Given the description of an element on the screen output the (x, y) to click on. 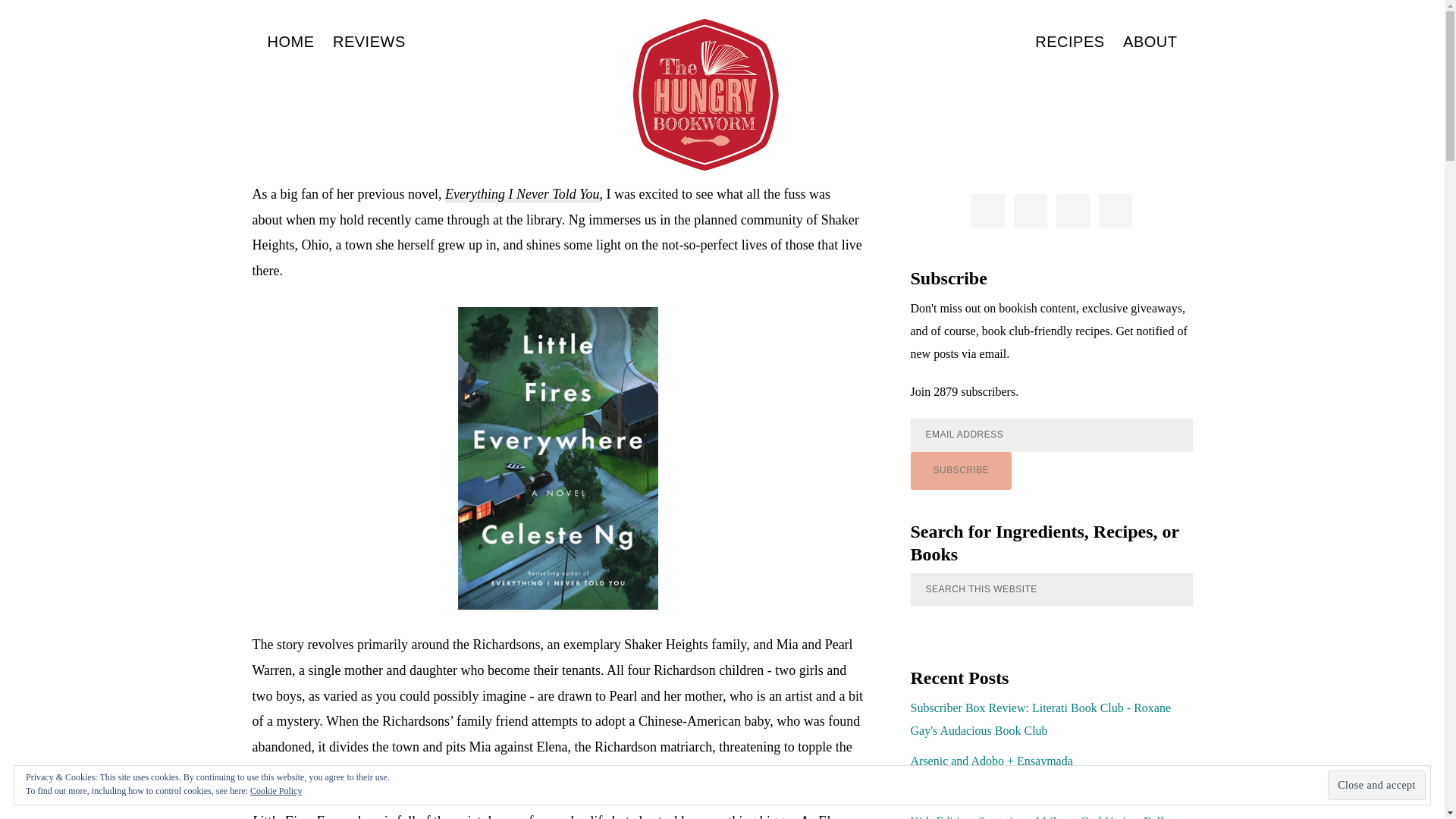
RECIPES (1069, 40)
Close and accept (1376, 785)
2 Comments (641, 83)
Everything I Never Told You (522, 194)
REVIEWS (368, 40)
HOME (290, 40)
ABOUT (1150, 40)
Little Fires Everywhere (454, 168)
Megan (572, 83)
Subscribe (960, 470)
